Given the description of an element on the screen output the (x, y) to click on. 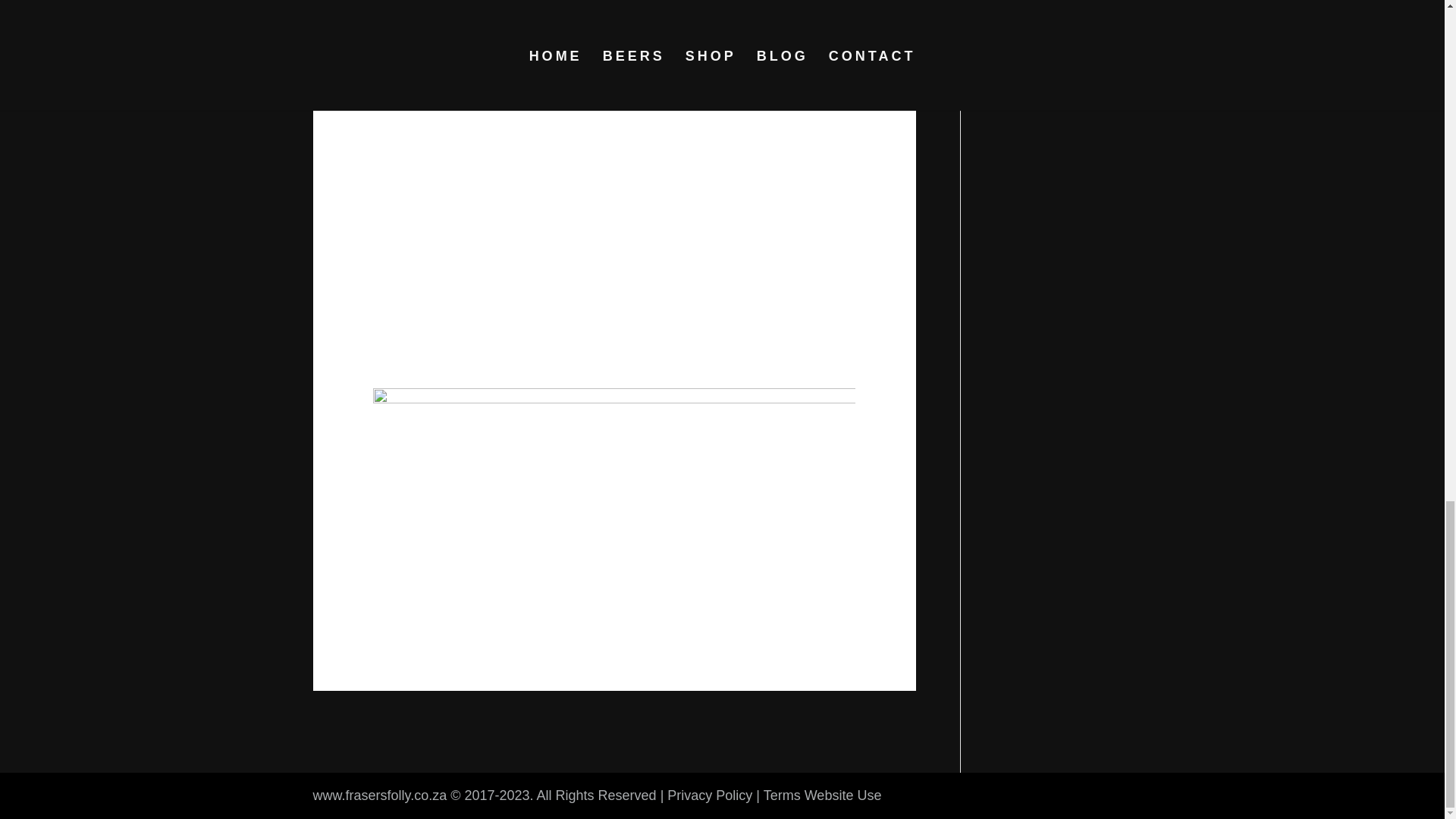
Privacy Policy (709, 795)
Terms Website Use (822, 795)
